Given the description of an element on the screen output the (x, y) to click on. 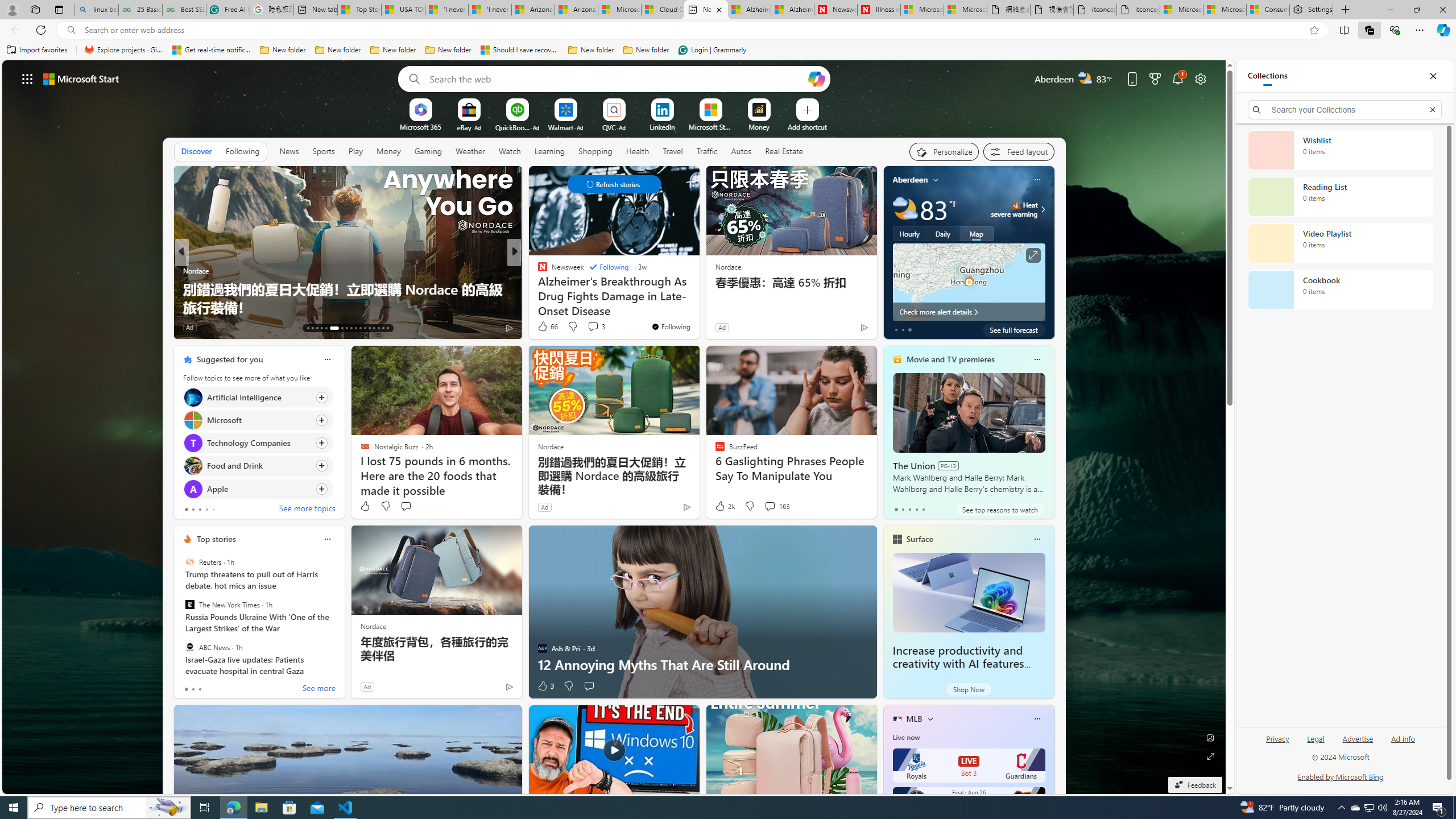
15 Bad Hygiene Habits That Could Actually Make You Sick (697, 298)
PC World (537, 270)
962 Like (545, 327)
Shopping (595, 151)
AutomationID: tab-27 (378, 328)
Add a site (807, 126)
Housely (187, 288)
Maritime Fixers (697, 307)
AutomationID: tab-25 (368, 328)
